Given the description of an element on the screen output the (x, y) to click on. 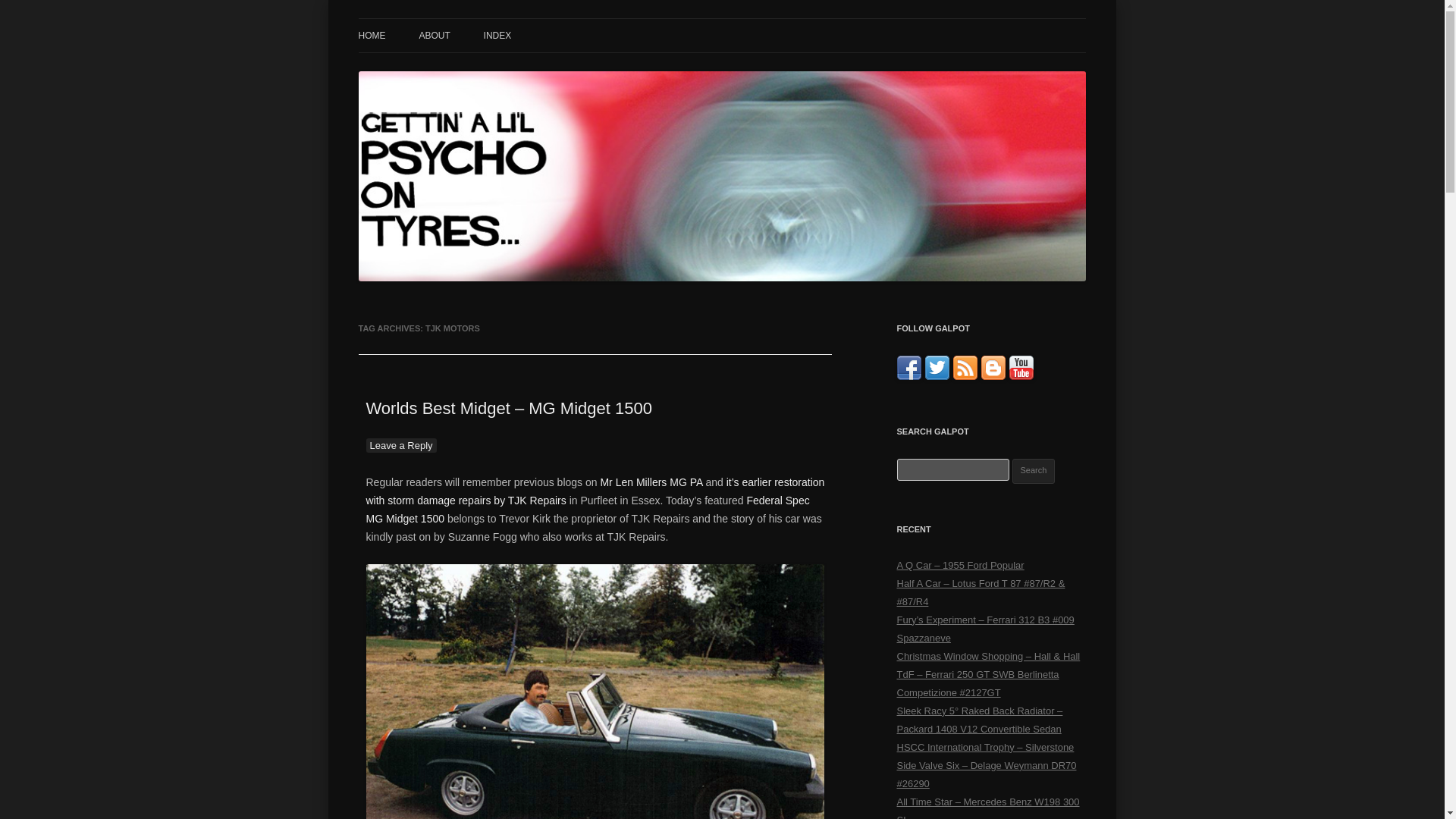
Gettin' A Li'l Psycho On Tyres (497, 36)
Leave a Reply (400, 445)
psychoontyres - YouTube (1020, 376)
Follow arttidesco on Twitter (936, 376)
ABOUT (434, 35)
Subscribe to RSS Feed (964, 376)
Connect on Facebook (908, 376)
Federal Spec MG Midget 1500 (587, 509)
Blogger Blog (993, 376)
